Given the description of an element on the screen output the (x, y) to click on. 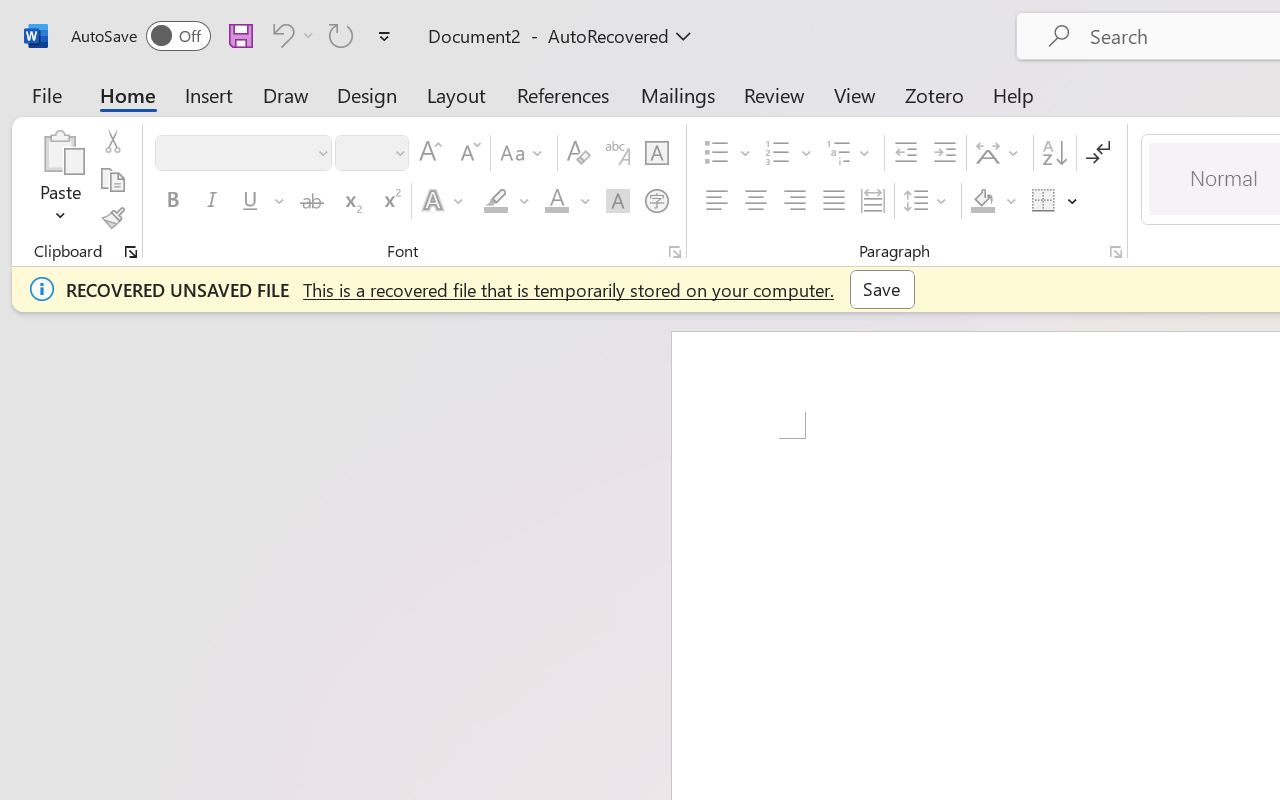
Font... (675, 252)
Can't Undo (280, 35)
Shading RGB(0, 0, 0) (982, 201)
Text Effects and Typography (444, 201)
Subscript (350, 201)
Center (756, 201)
